Given the description of an element on the screen output the (x, y) to click on. 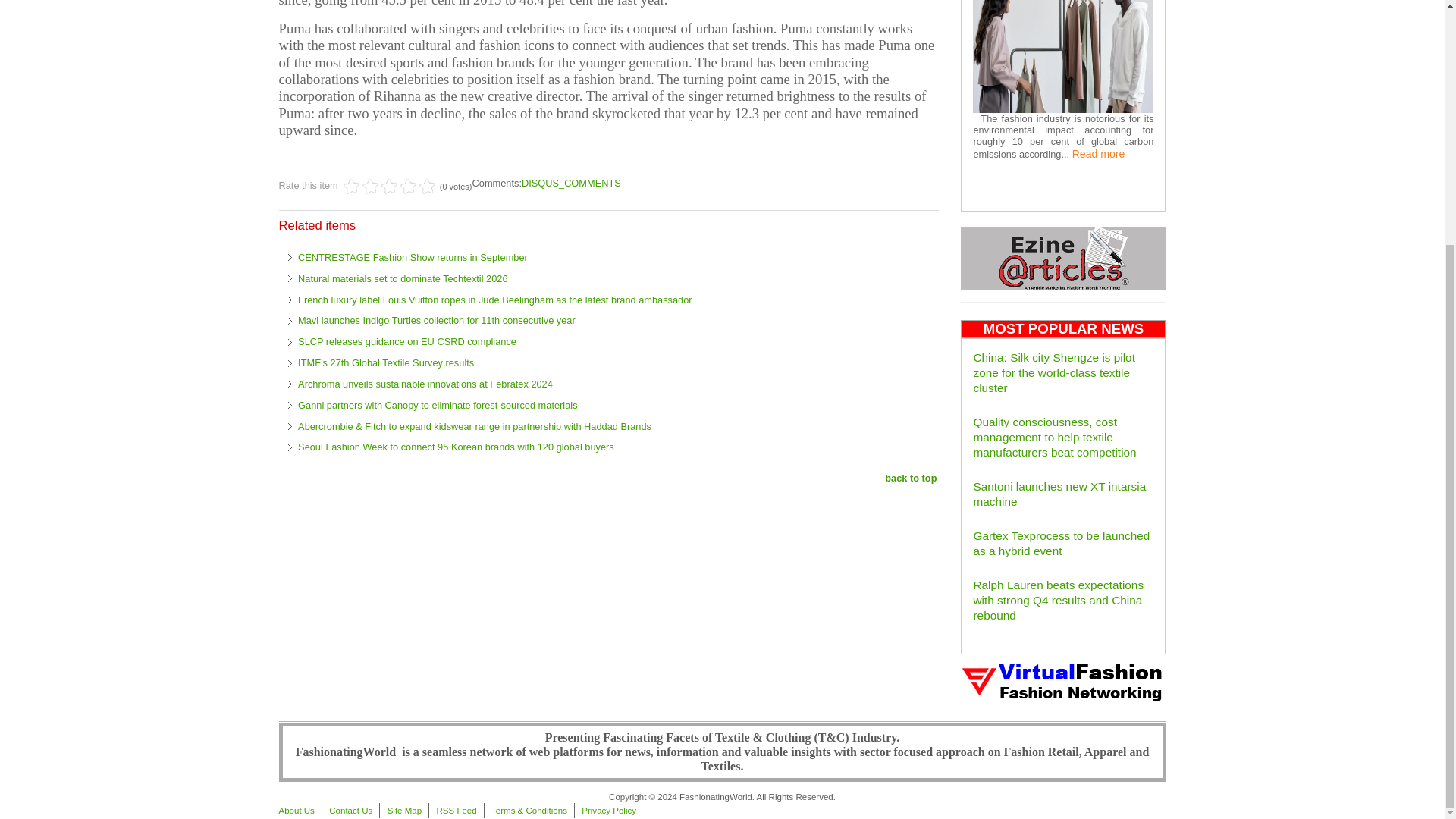
2 (361, 186)
1 (351, 186)
1 star out of 5 (351, 186)
5 stars out of 5 (389, 186)
2 stars out of 5 (361, 186)
3 stars out of 5 (370, 186)
3 (370, 186)
4 stars out of 5 (379, 186)
